Given the description of an element on the screen output the (x, y) to click on. 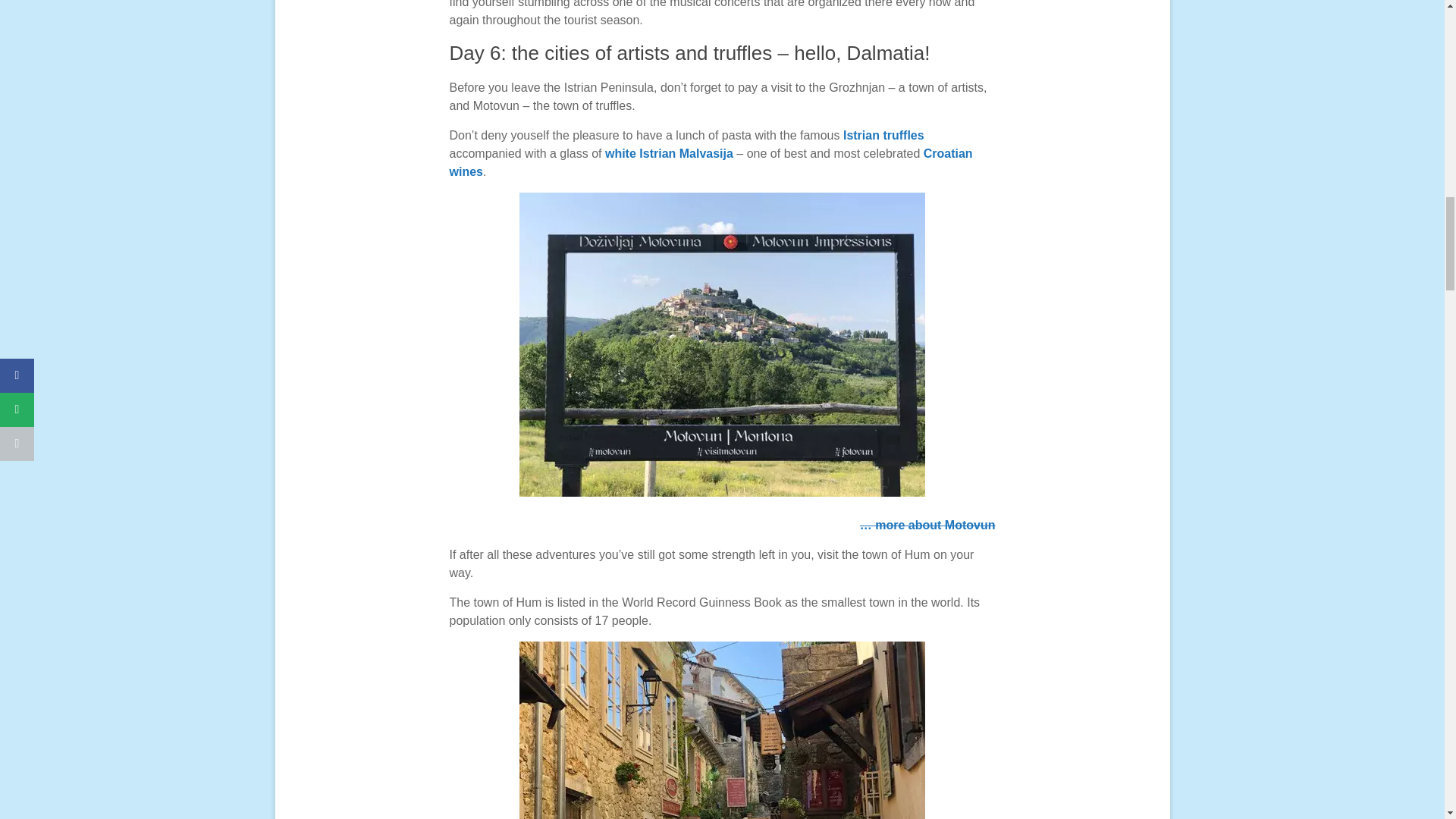
Istrian truffles (883, 134)
Croatian wines (710, 162)
white Istrian Malvasija (669, 153)
